Given the description of an element on the screen output the (x, y) to click on. 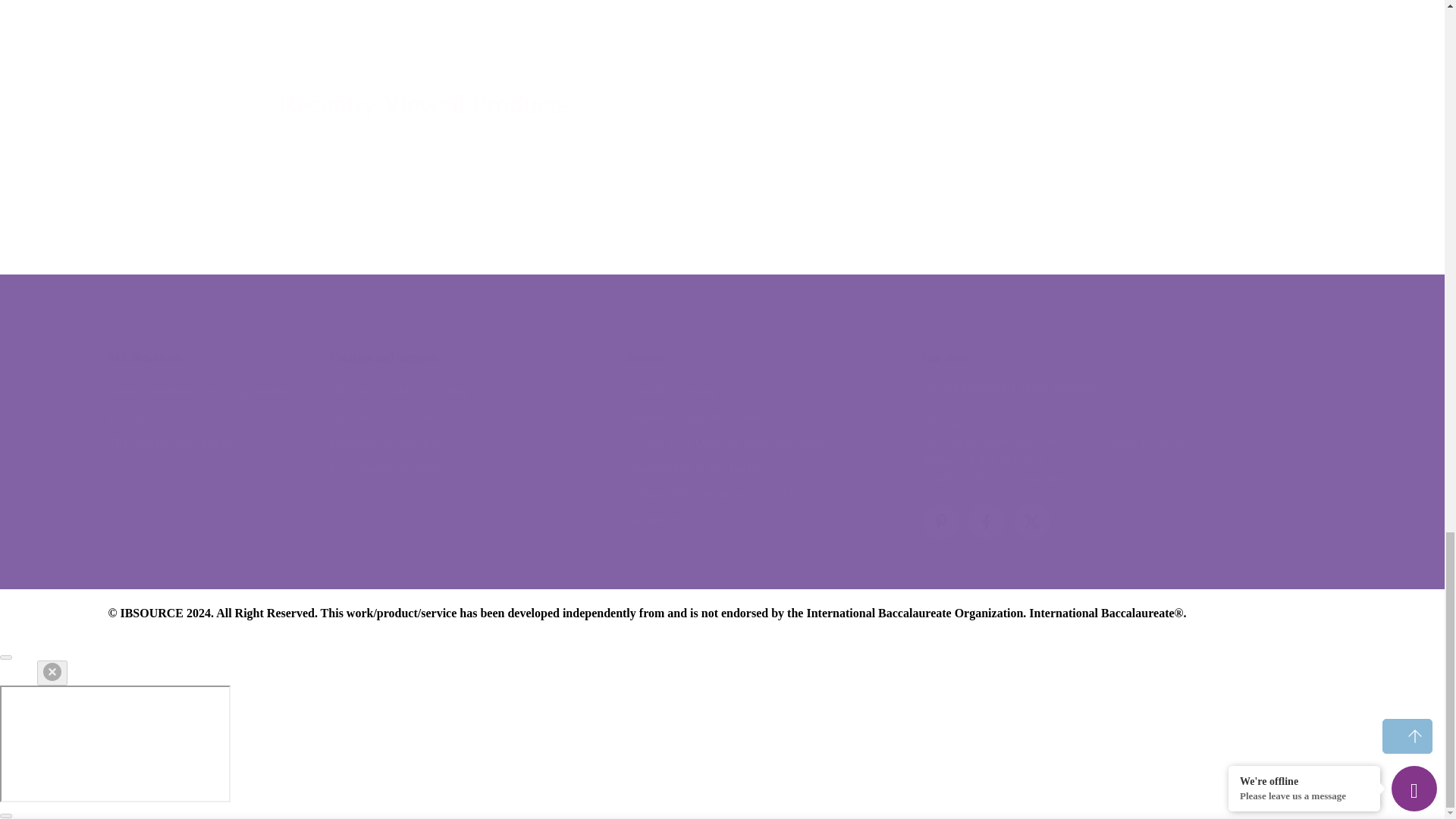
Recently Viewed Products (722, 104)
